Given the description of an element on the screen output the (x, y) to click on. 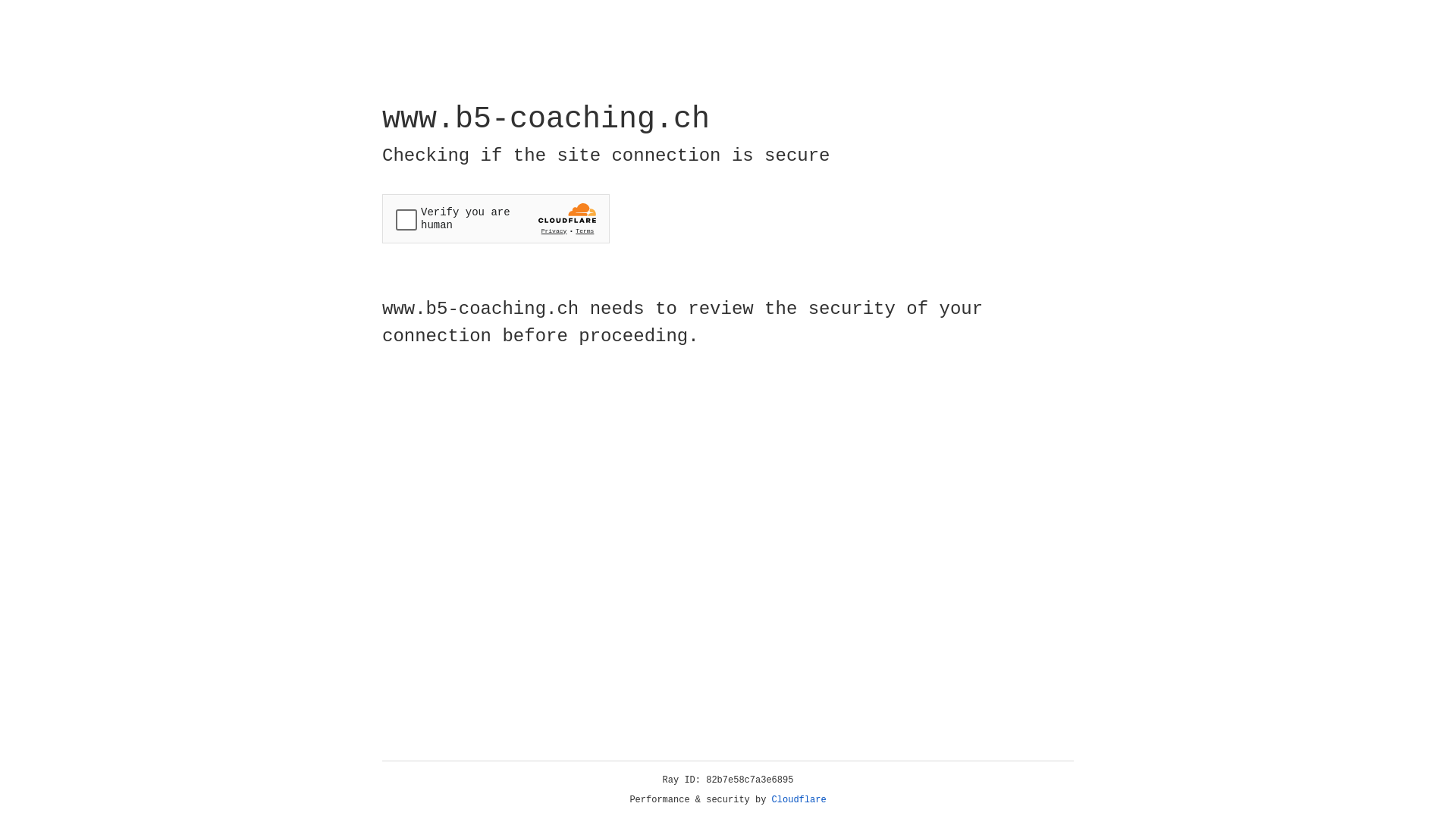
Widget containing a Cloudflare security challenge Element type: hover (495, 218)
Cloudflare Element type: text (798, 799)
